Given the description of an element on the screen output the (x, y) to click on. 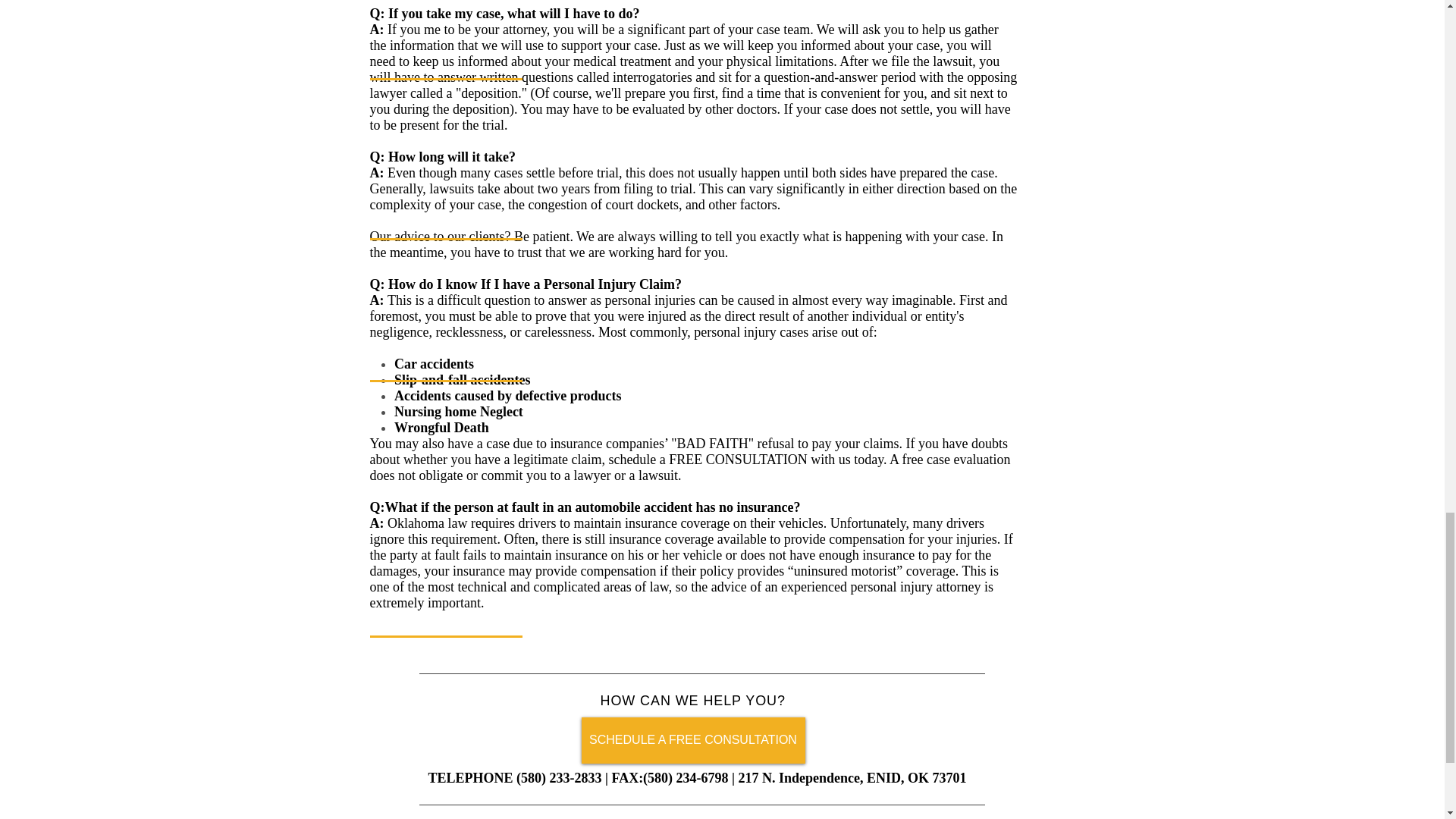
SCHEDULE A FREE CONSULTATION (692, 740)
